Given the description of an element on the screen output the (x, y) to click on. 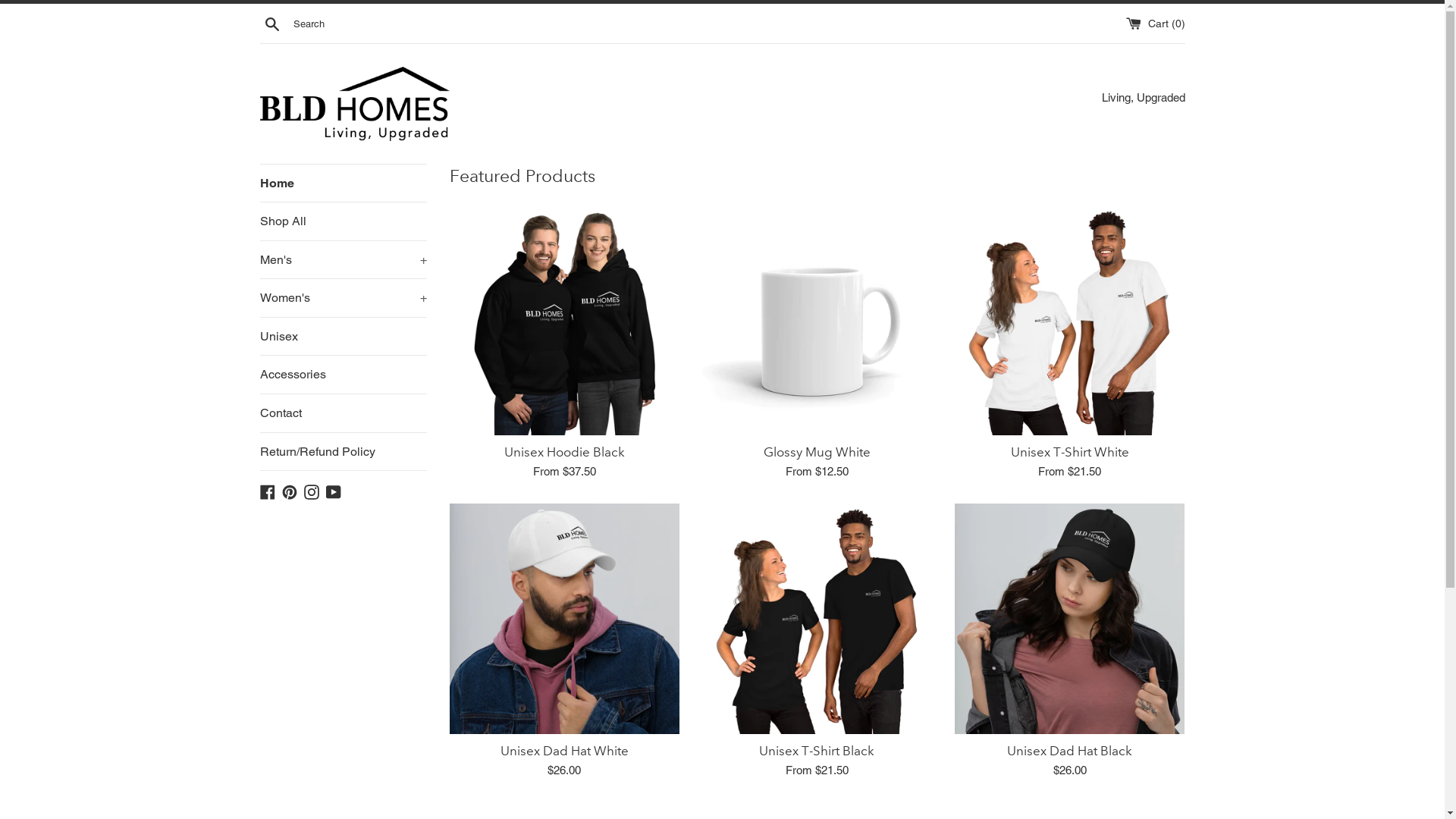
Shop All Element type: text (342, 221)
Accessories Element type: text (342, 374)
Unisex T-Shirt White Element type: hover (1069, 320)
Unisex T-Shirt White Element type: text (1069, 452)
Glossy Mug White Element type: hover (816, 320)
YouTube Element type: text (333, 490)
Unisex Element type: text (342, 336)
Contact Element type: text (342, 413)
Cart (0) Element type: text (1154, 22)
Search Element type: text (271, 23)
Unisex T-Shirt Black Element type: hover (816, 618)
Unisex Dad Hat Black Element type: hover (1069, 618)
Unisex Dad Hat White Element type: hover (563, 618)
Glossy Mug White Element type: text (816, 452)
Unisex T-Shirt Black Element type: text (816, 751)
Unisex Hoodie Black Element type: hover (563, 320)
Pinterest Element type: text (289, 490)
Women's
+ Element type: text (342, 297)
Instagram Element type: text (310, 490)
Facebook Element type: text (266, 490)
Return/Refund Policy Element type: text (342, 451)
Unisex Dad Hat Black Element type: text (1069, 751)
Home Element type: text (342, 182)
Men's
+ Element type: text (342, 260)
Unisex Dad Hat White Element type: text (564, 751)
Unisex Hoodie Black Element type: text (564, 452)
